Given the description of an element on the screen output the (x, y) to click on. 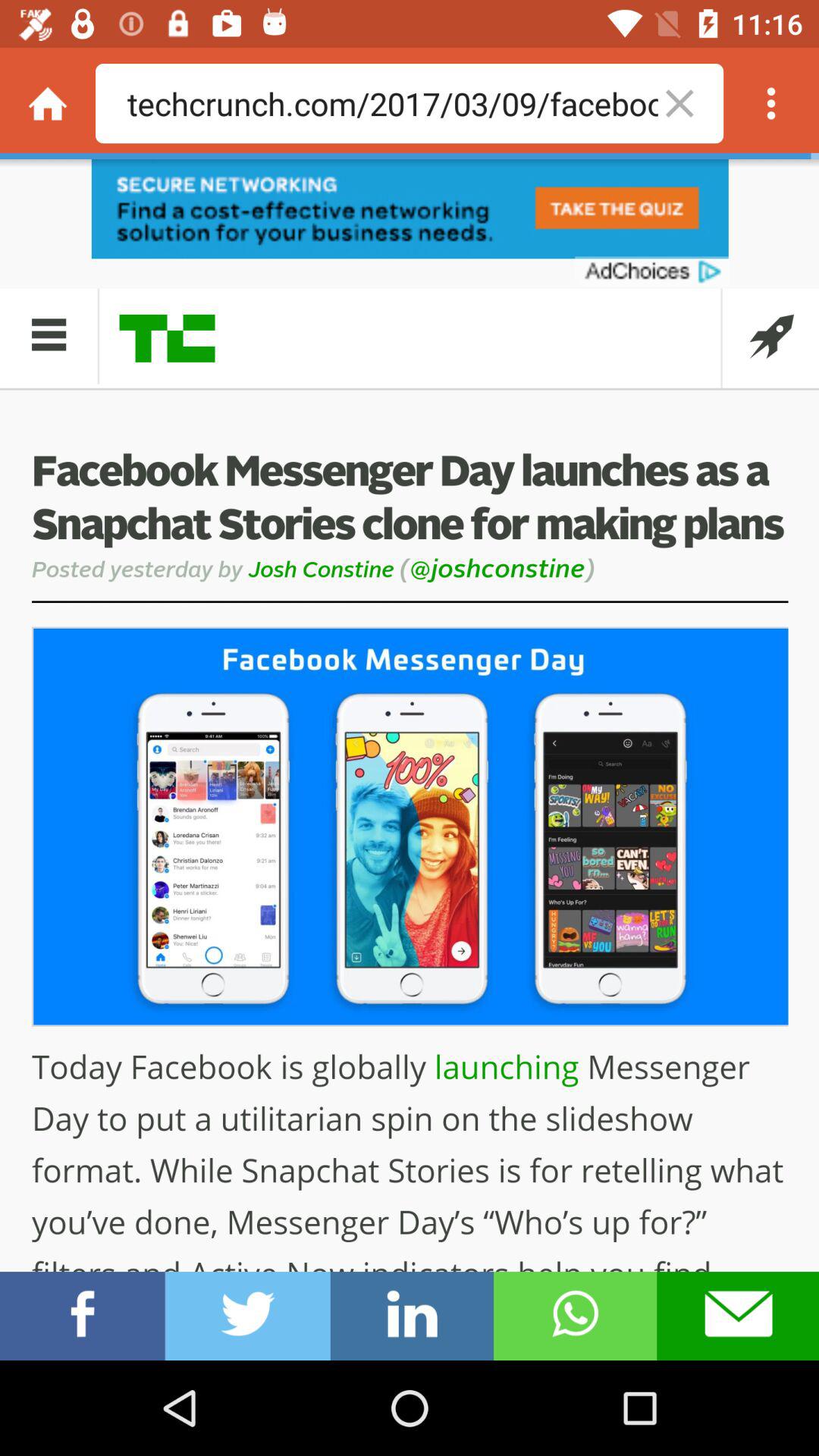
open settings (771, 103)
